Given the description of an element on the screen output the (x, y) to click on. 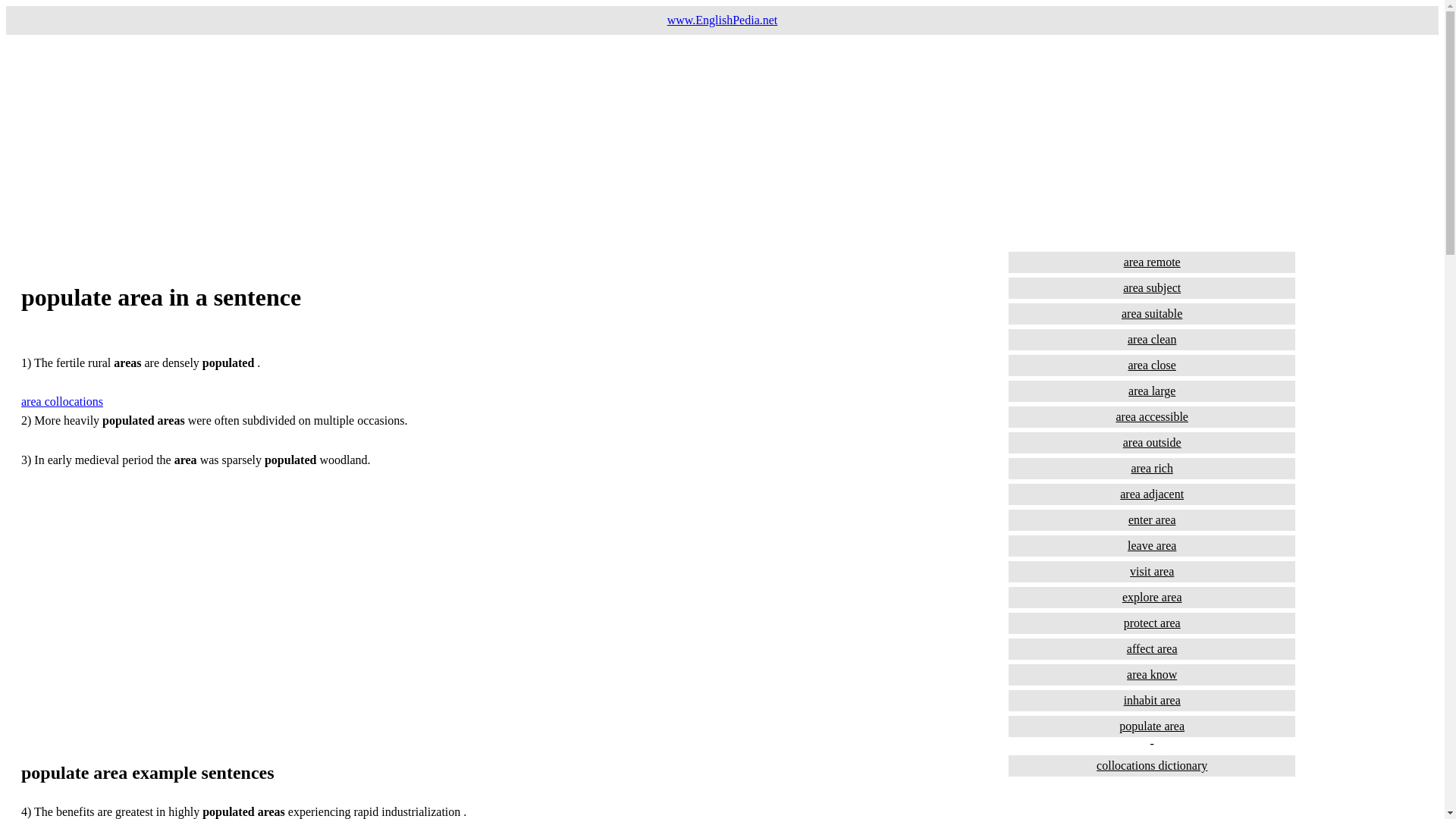
area accessible in a sentence (1152, 416)
area remote (1152, 261)
area suitable (1152, 313)
visit area (1152, 571)
area subject (1152, 287)
area suitable in a sentence (1152, 313)
area outside in a sentence (1152, 442)
affect area (1152, 649)
inhabit area (1152, 700)
area accessible (1152, 416)
